Given the description of an element on the screen output the (x, y) to click on. 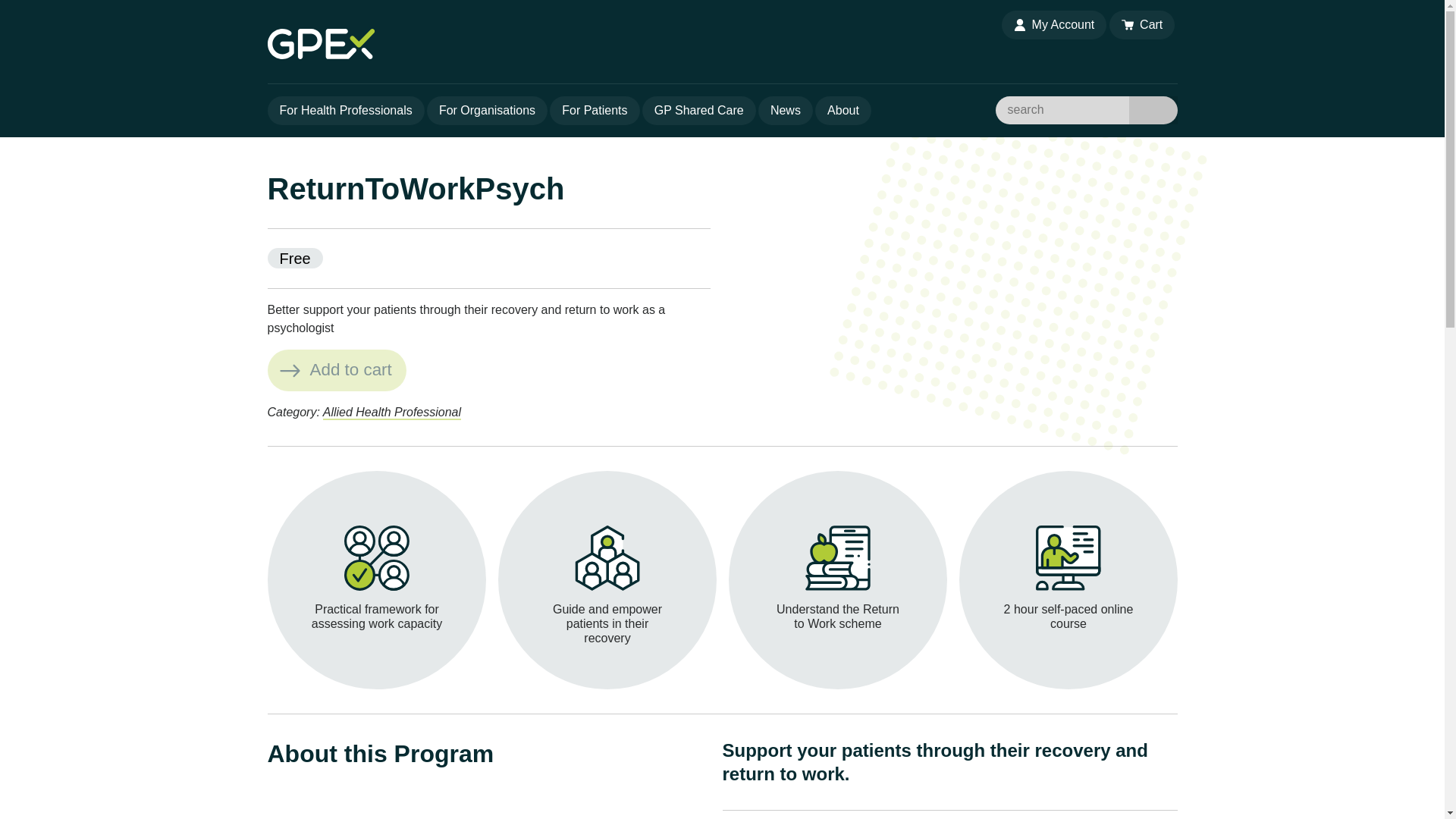
For Health Professionals (344, 110)
Cart (1141, 24)
GPEx (630, 43)
Search (1152, 110)
News (785, 110)
GP Shared Care (698, 110)
About (842, 110)
Allied Health Professional (392, 412)
For Patients (594, 110)
Add to cart (336, 369)
